Given the description of an element on the screen output the (x, y) to click on. 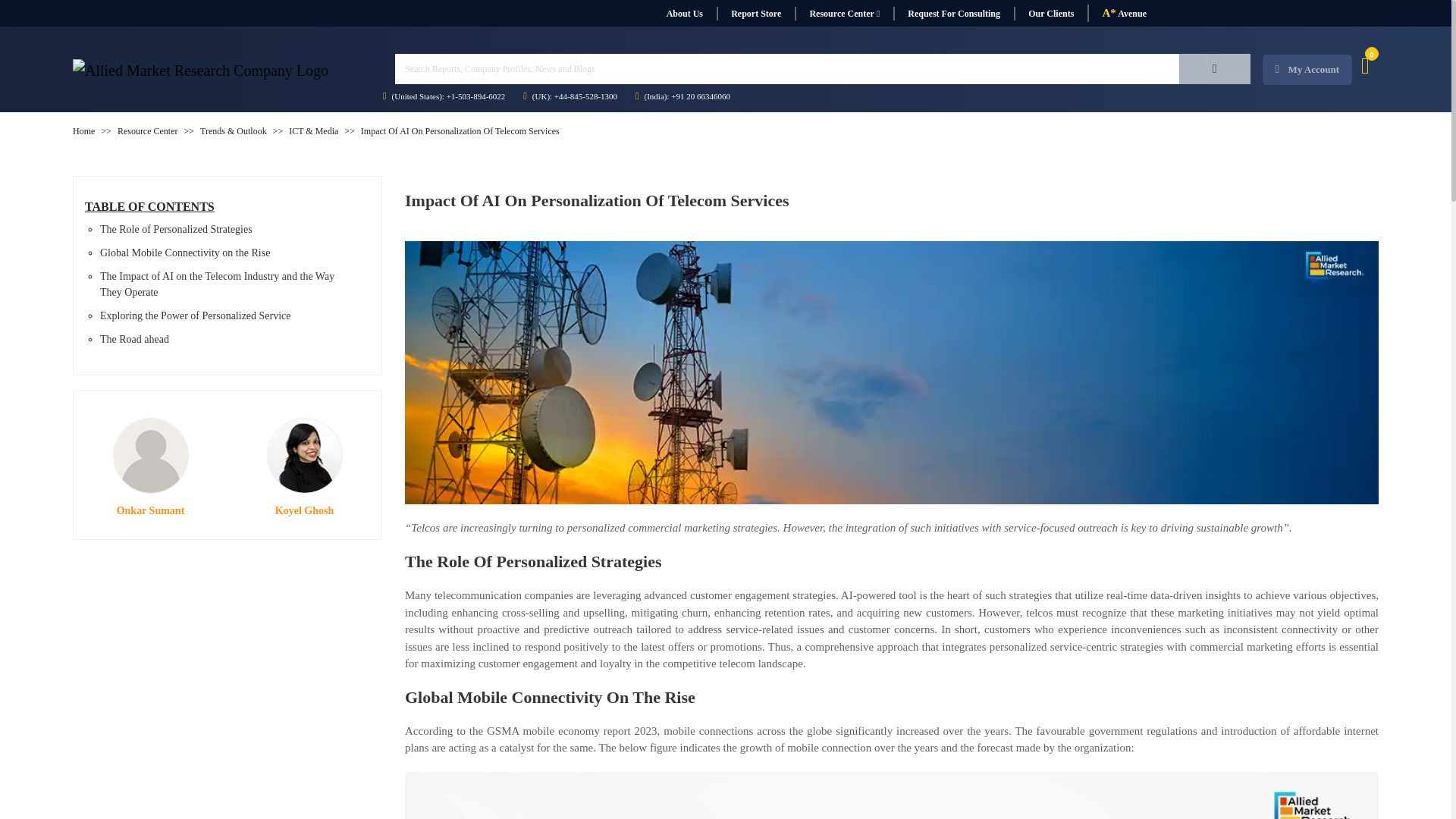
Exploring the Power of Personalized Service  (195, 315)
Koyel Ghosh (304, 455)
Request For Consulting (953, 13)
Onkar Sumant (149, 455)
The Road ahead  (134, 338)
Year wise Mobile Economy Report (891, 795)
Print PDF (1334, 168)
Exploring the Power of Personalized Service (195, 315)
Report Store (755, 13)
Global Mobile Connectivity on the Rise  (184, 252)
